Given the description of an element on the screen output the (x, y) to click on. 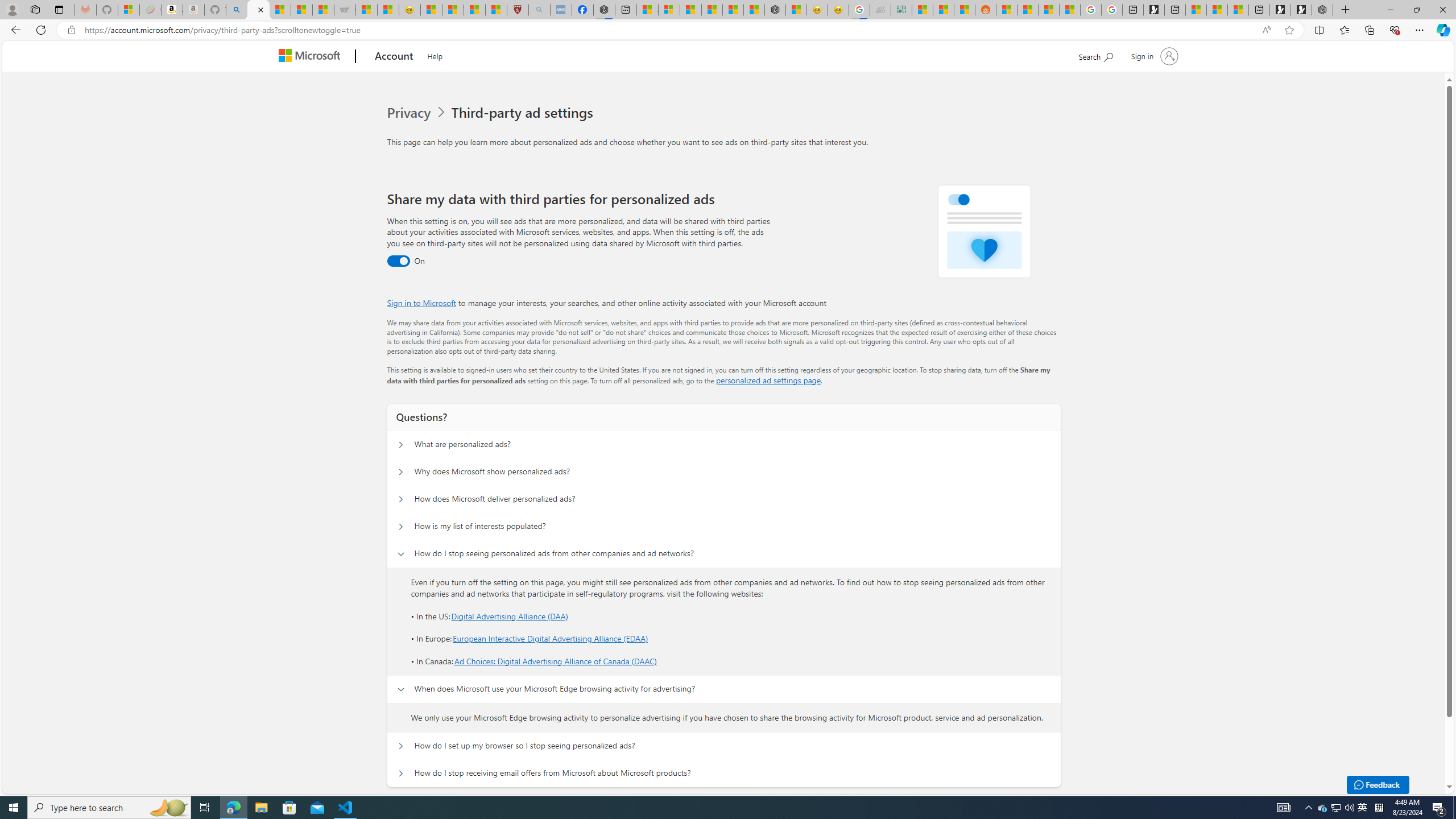
MSN (964, 9)
Questions? What are personalized ads? (401, 444)
Third-party ad settings (523, 112)
Third party data sharing toggle (398, 260)
Questions? How does Microsoft deliver personalized ads? (401, 499)
Help (435, 54)
